Given the description of an element on the screen output the (x, y) to click on. 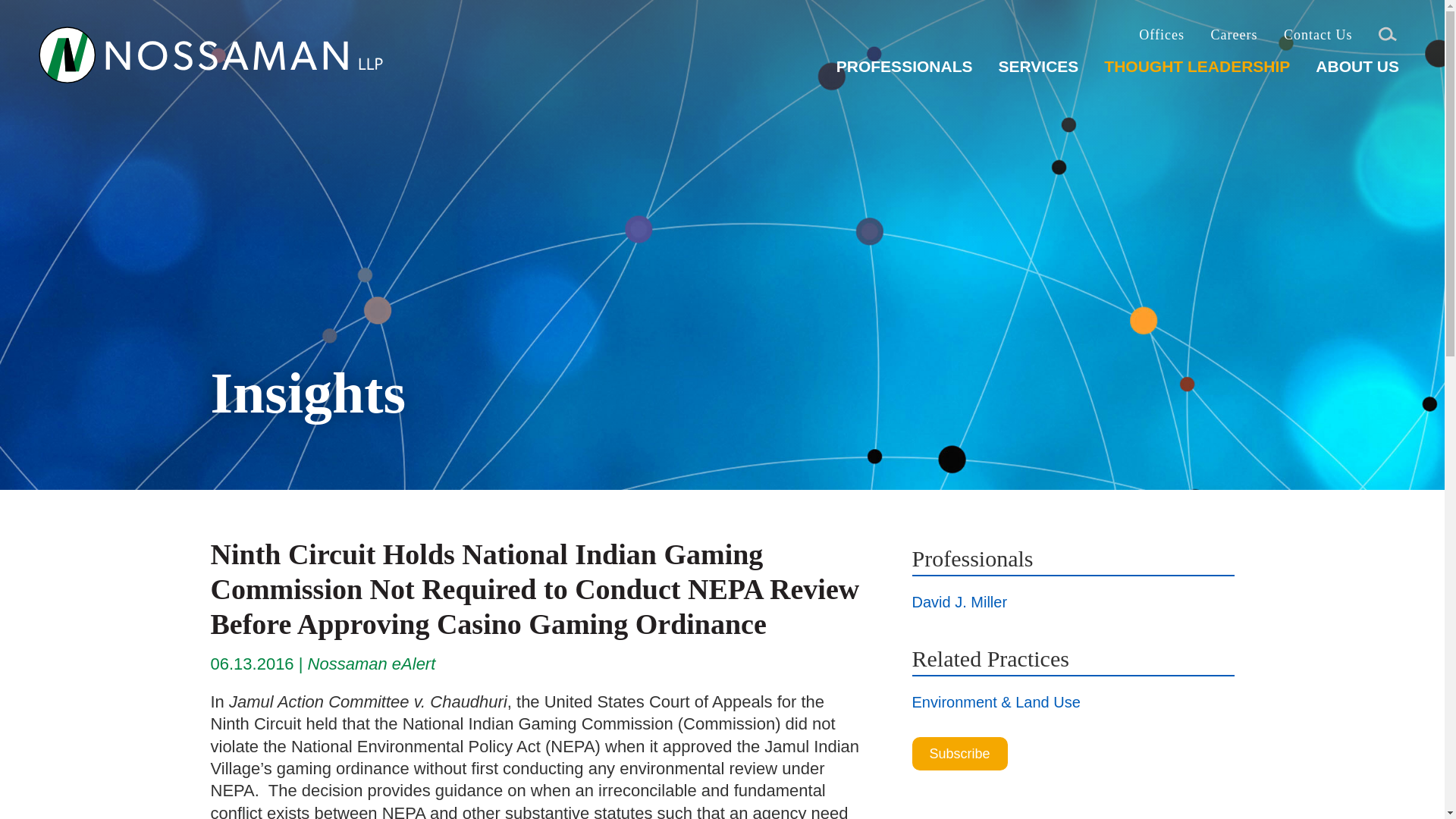
PROFESSIONALS (904, 72)
David J. Miller (959, 601)
Subscribe (959, 753)
SERVICES (1037, 72)
